Given the description of an element on the screen output the (x, y) to click on. 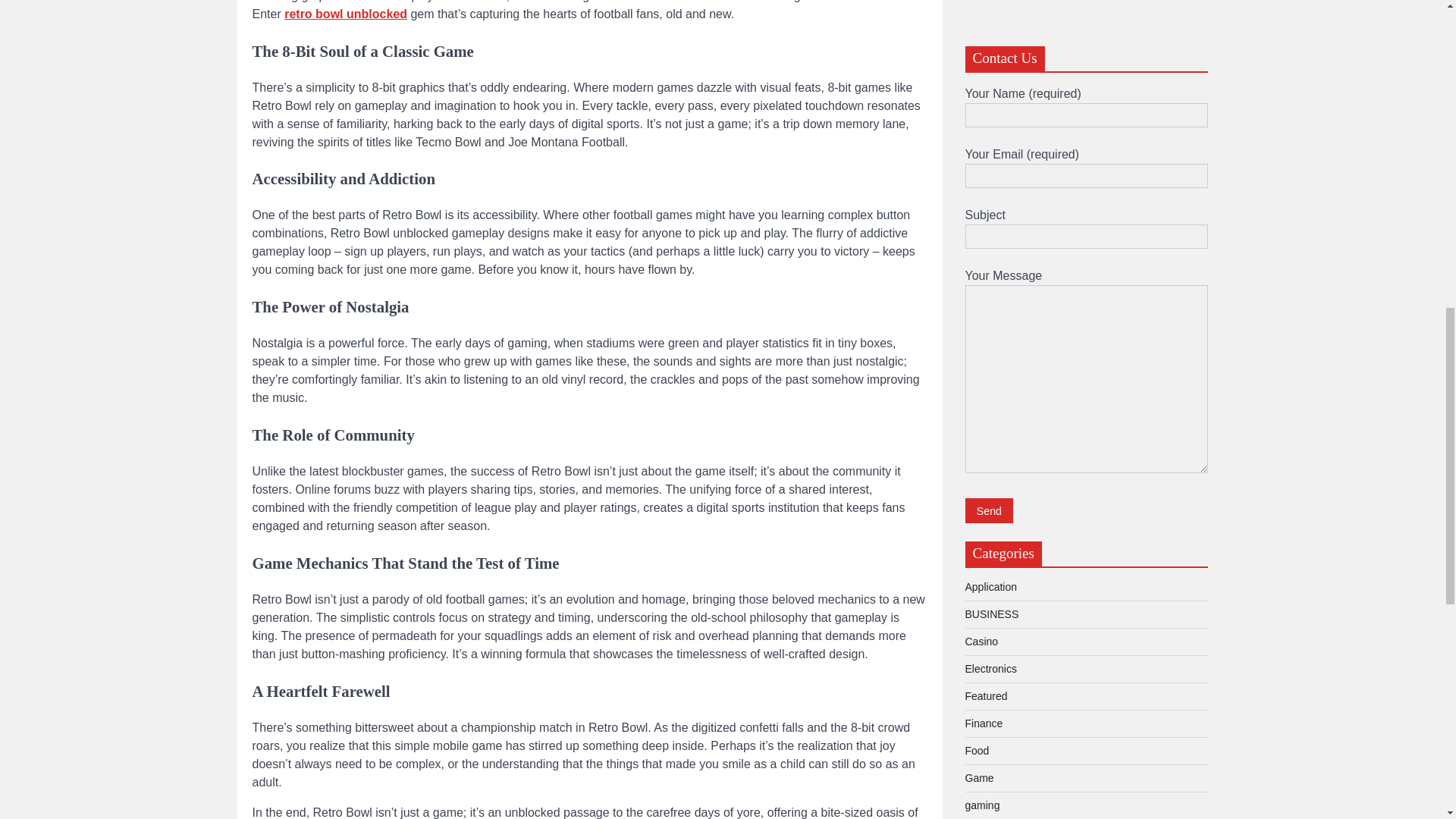
health (977, 170)
gaming (980, 143)
Featured (985, 33)
Game (977, 115)
Video (977, 334)
Social media (994, 279)
Finance (983, 61)
Food (975, 88)
retro bowl unblocked (345, 13)
Electronics (989, 6)
Seo (973, 252)
Online Gaming (999, 224)
Internet (981, 197)
Technology (990, 306)
